Given the description of an element on the screen output the (x, y) to click on. 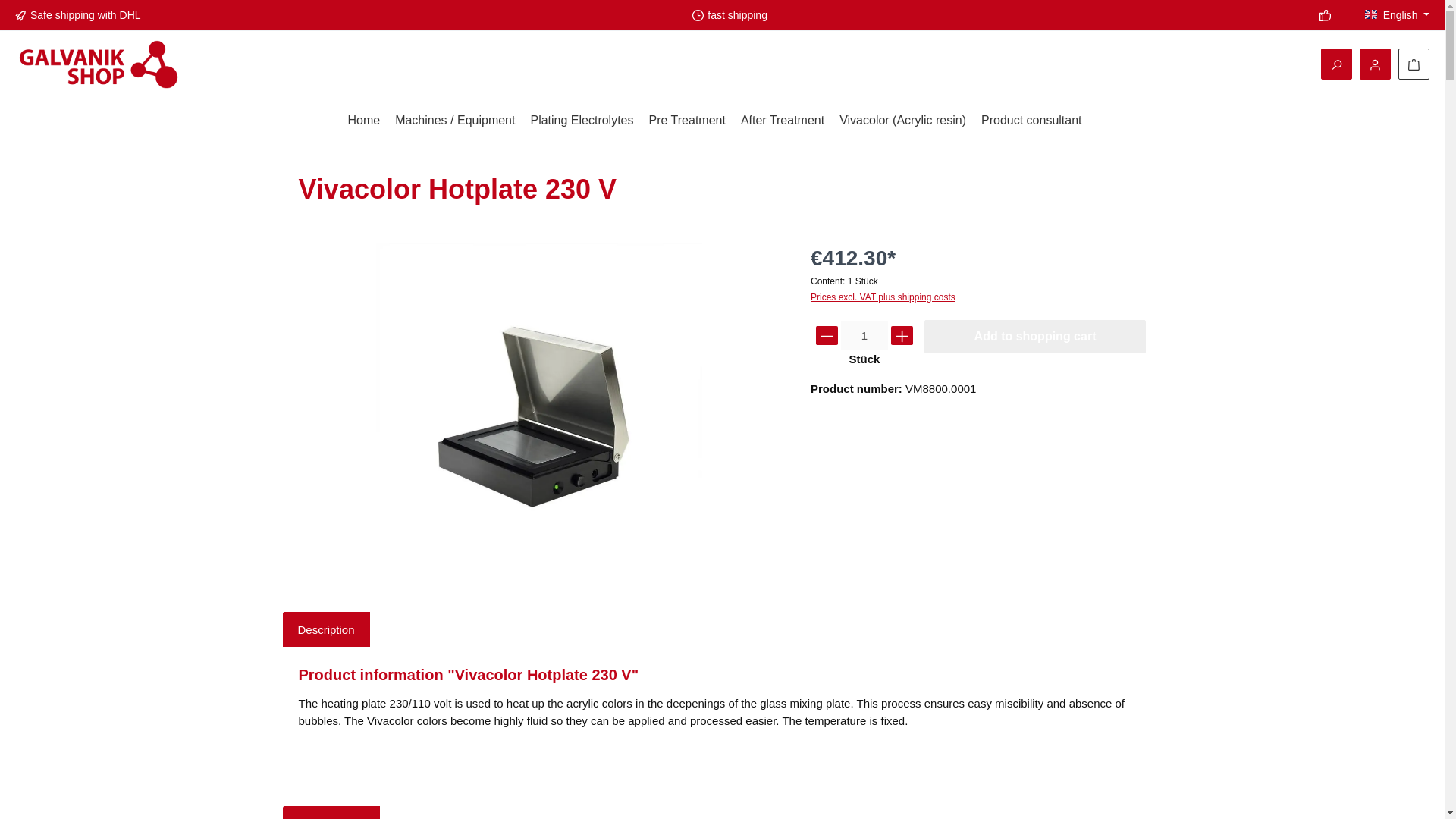
Pre Treatment (695, 120)
Shopping cart (1413, 63)
Home (370, 120)
Home (370, 120)
My account (1374, 63)
After Treatment (790, 120)
Product consultant (1039, 120)
Plating Electrolytes (588, 120)
Plating Electrolytes (588, 120)
1 (864, 335)
